Given the description of an element on the screen output the (x, y) to click on. 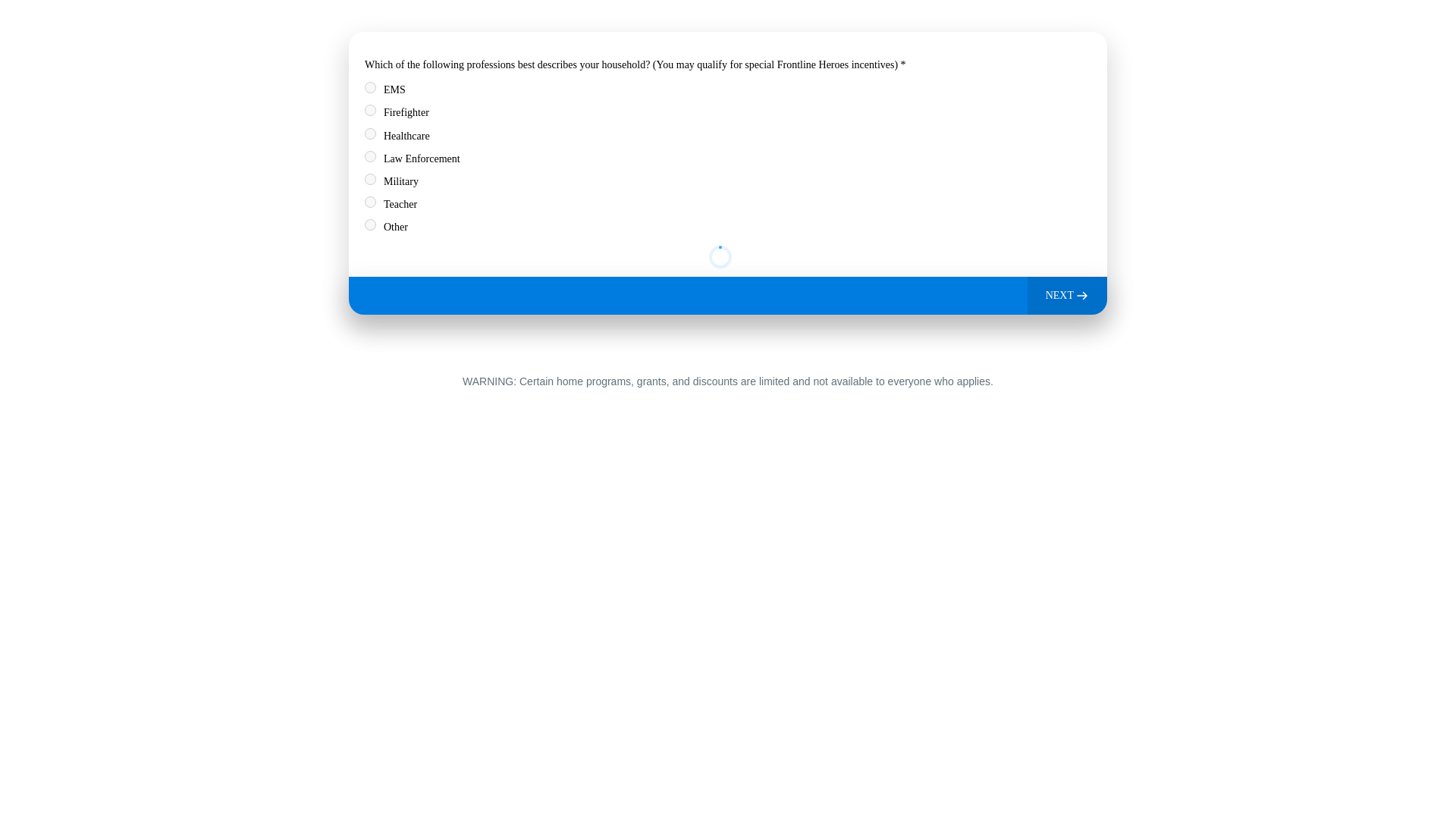
Law Enforcement (370, 156)
Teacher (370, 202)
EMS (370, 87)
Other (370, 224)
Military (370, 179)
Healthcare (370, 133)
Firefighter (370, 110)
